Given the description of an element on the screen output the (x, y) to click on. 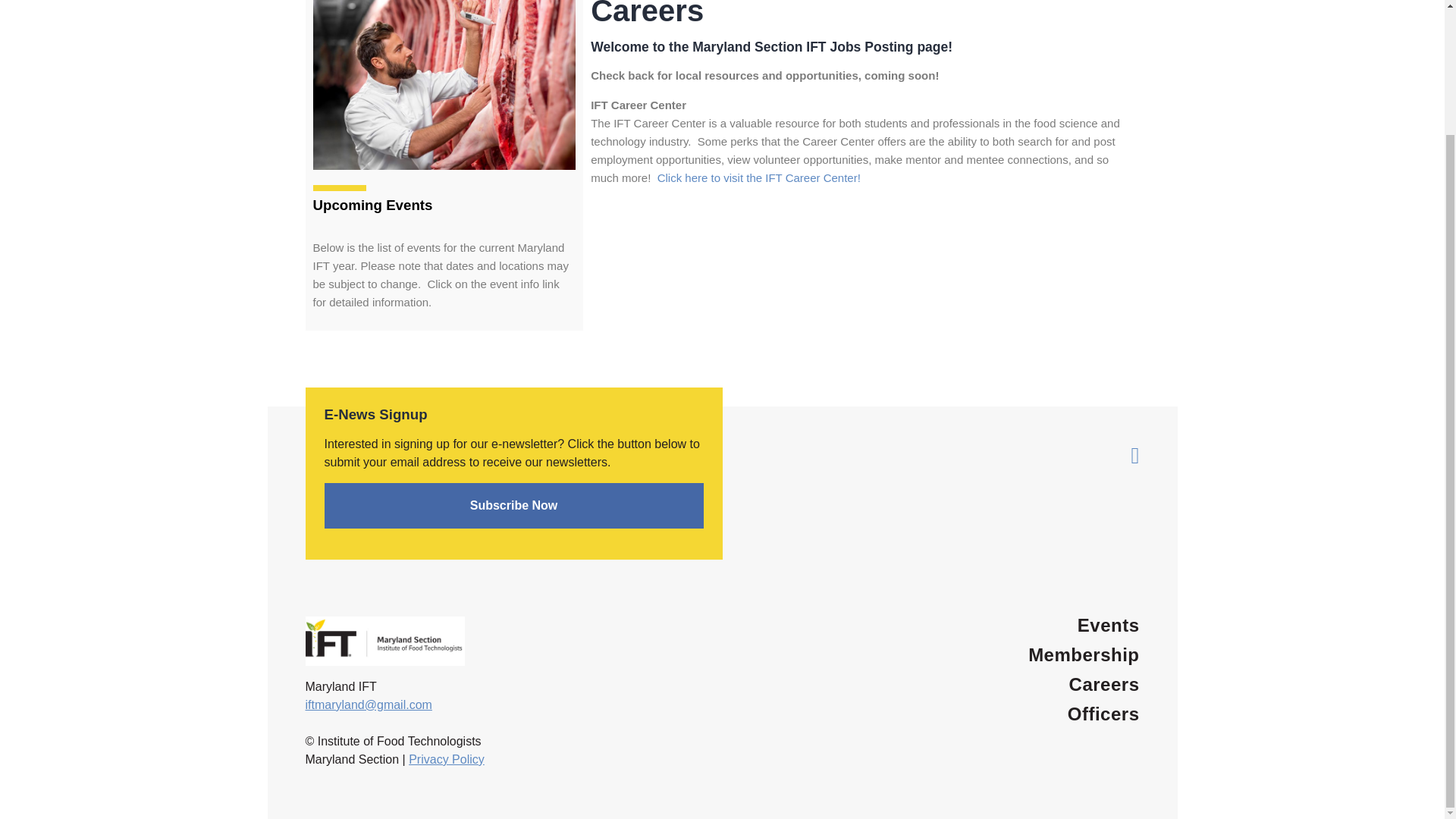
Events (1108, 625)
Subscribe Now (513, 505)
Careers (1104, 684)
Click here to visit the IFT Career Center! (759, 177)
Privacy Policy (446, 758)
Officers (1103, 713)
Membership (1082, 654)
